Given the description of an element on the screen output the (x, y) to click on. 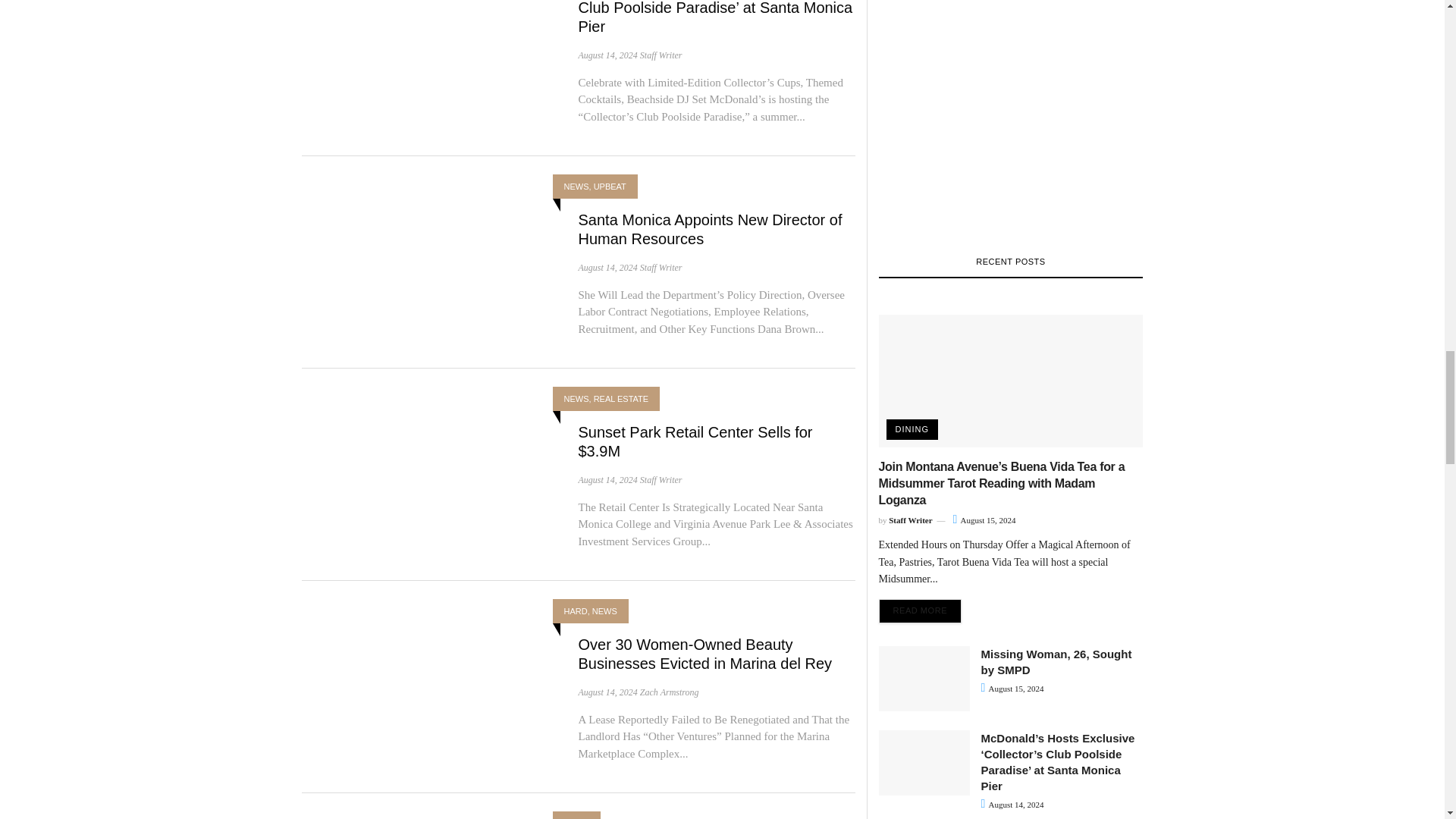
Posts by Staff Writer (661, 54)
Posts by Staff Writer (661, 267)
Santa Monica Appoints New Director of Human Resources (709, 229)
